Given the description of an element on the screen output the (x, y) to click on. 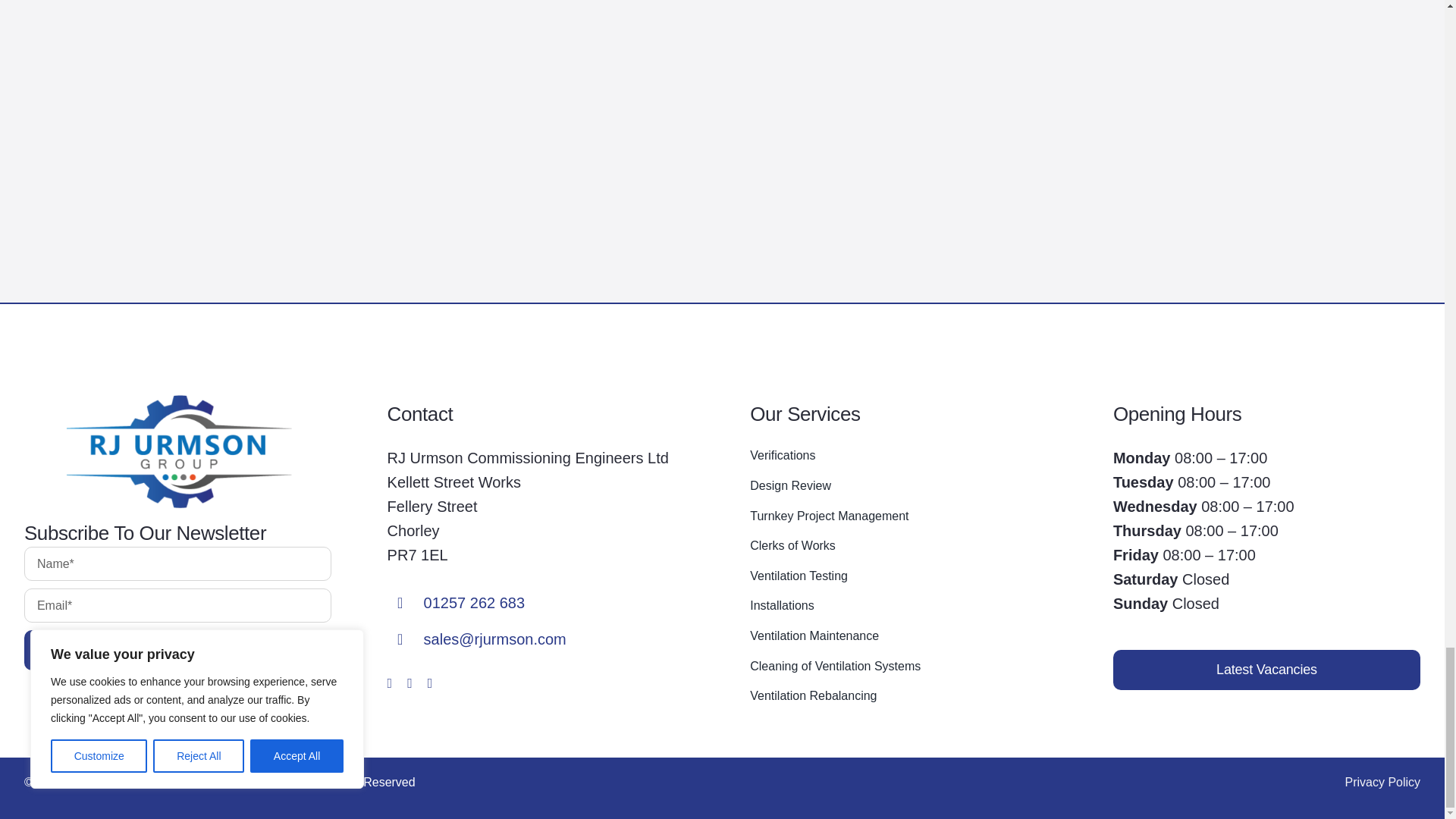
Subscribe (177, 612)
